Given the description of an element on the screen output the (x, y) to click on. 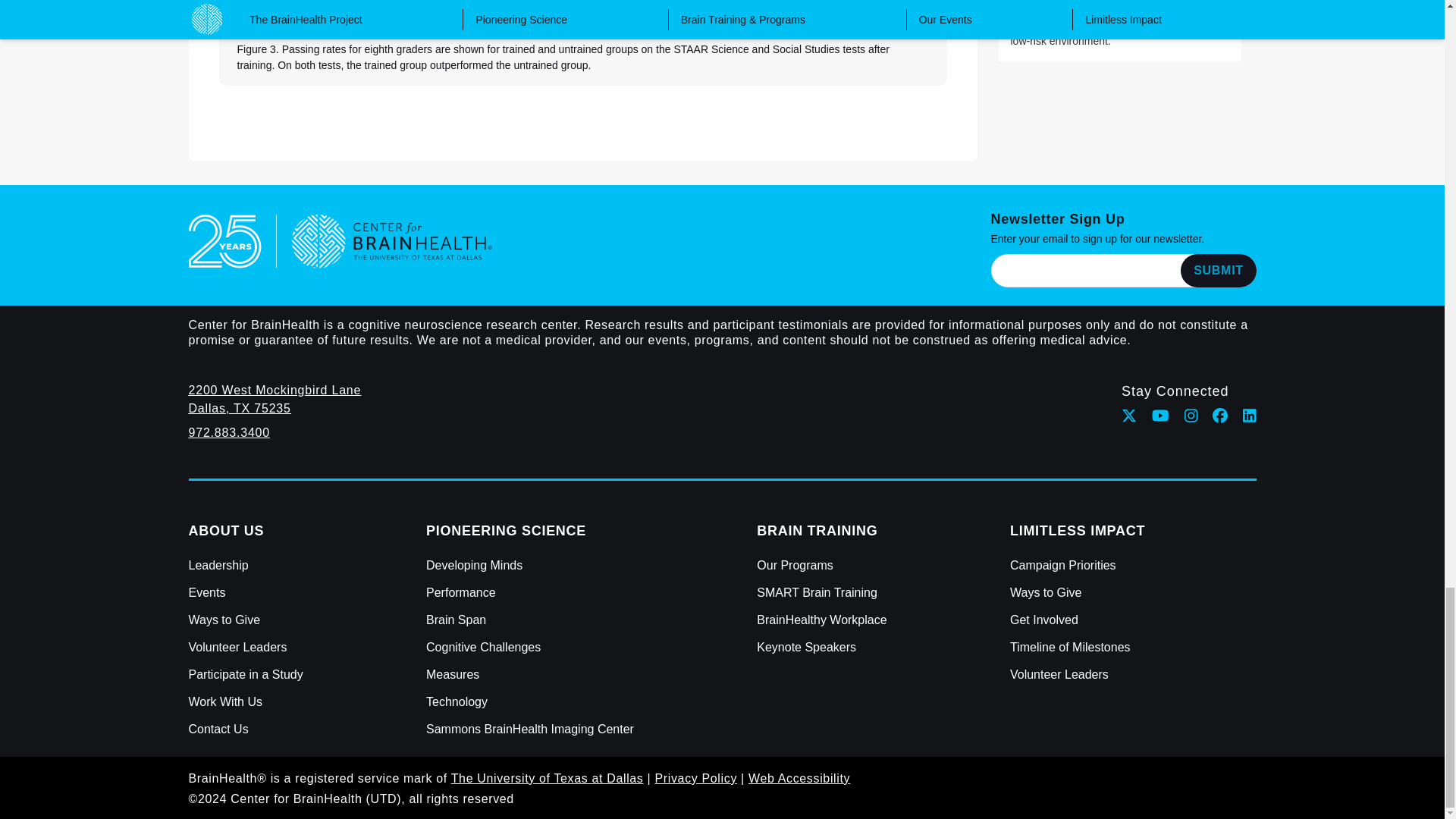
Follow Center for BrainHealth on youtube (1160, 415)
iframe (1122, 270)
Follow Center for BrainHealth on facebook (1219, 415)
Follow Center for BrainHealth on instagram (1191, 415)
Follow Center for BrainHealth on linkedin (1249, 415)
Follow Center for BrainHealth on twitter (1129, 415)
